Given the description of an element on the screen output the (x, y) to click on. 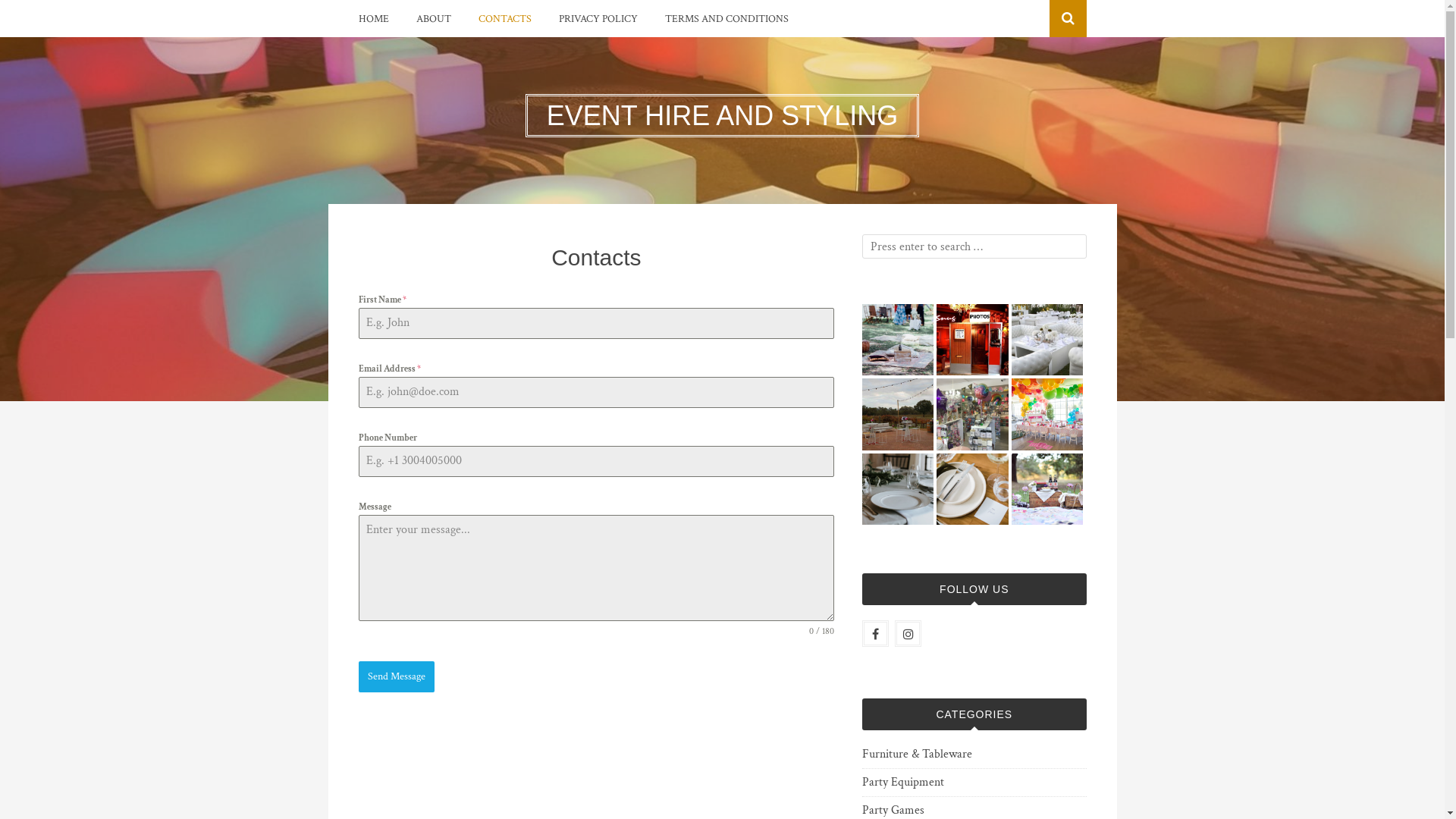
ABOUT Element type: text (432, 19)
Send Message Element type: text (395, 676)
EVENT HIRE AND STYLING Element type: text (722, 115)
HOME Element type: text (372, 19)
TERMS AND CONDITIONS Element type: text (725, 19)
Search for: Element type: hover (973, 246)
Party Equipment Element type: text (903, 782)
PRIVACY POLICY Element type: text (597, 19)
Furniture & Tableware Element type: text (917, 754)
CONTACTS Element type: text (503, 19)
